Given the description of an element on the screen output the (x, y) to click on. 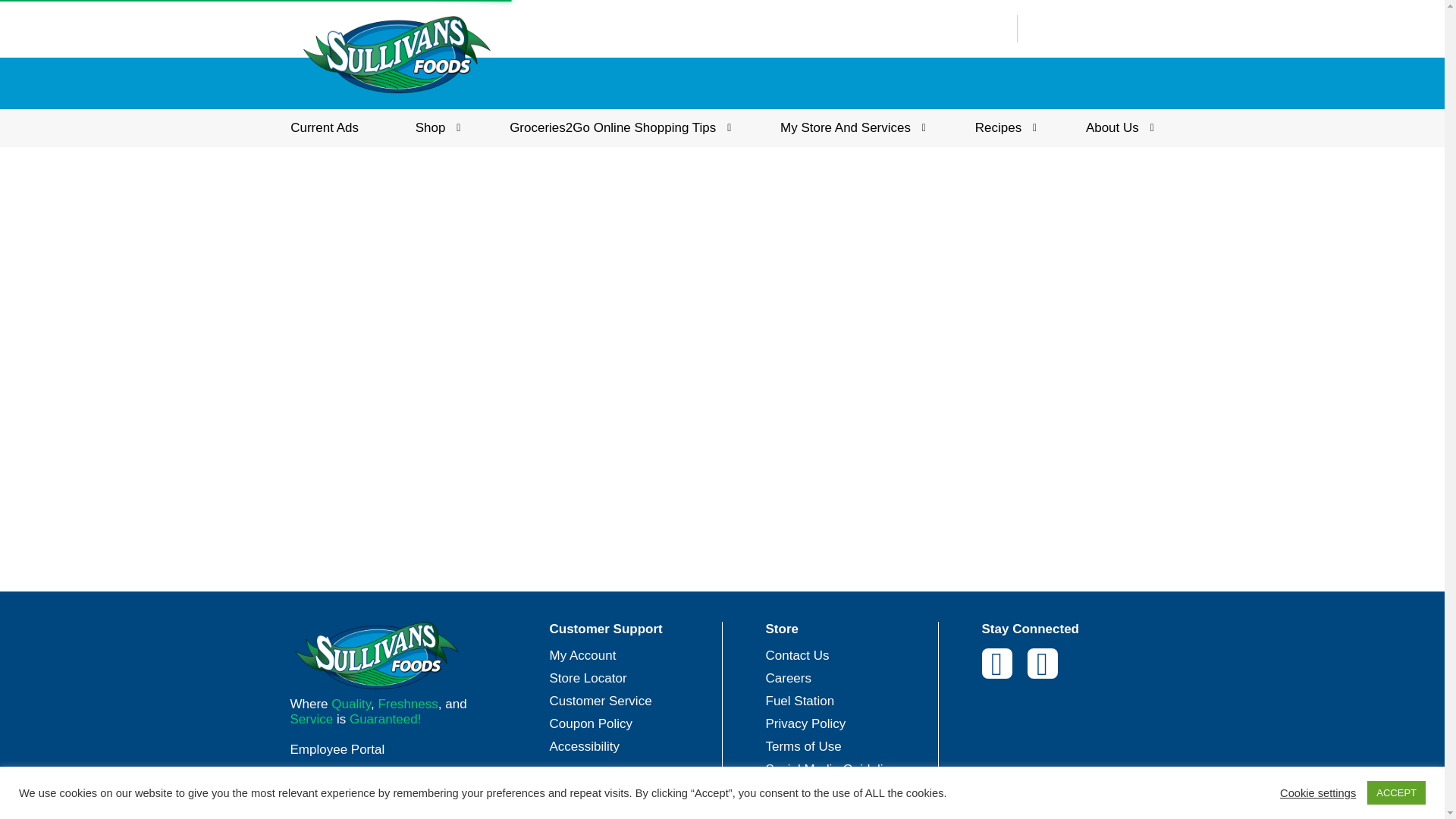
Employee Portal (393, 749)
Recipes (1002, 127)
Current Ads (324, 127)
Shop (434, 127)
Facebook (996, 663)
Store Locator (587, 678)
About Us (1116, 127)
My Store And Services (849, 127)
My Account (581, 655)
Twitter (1041, 663)
Groceries2Go Online Shopping Tips (616, 127)
